Given the description of an element on the screen output the (x, y) to click on. 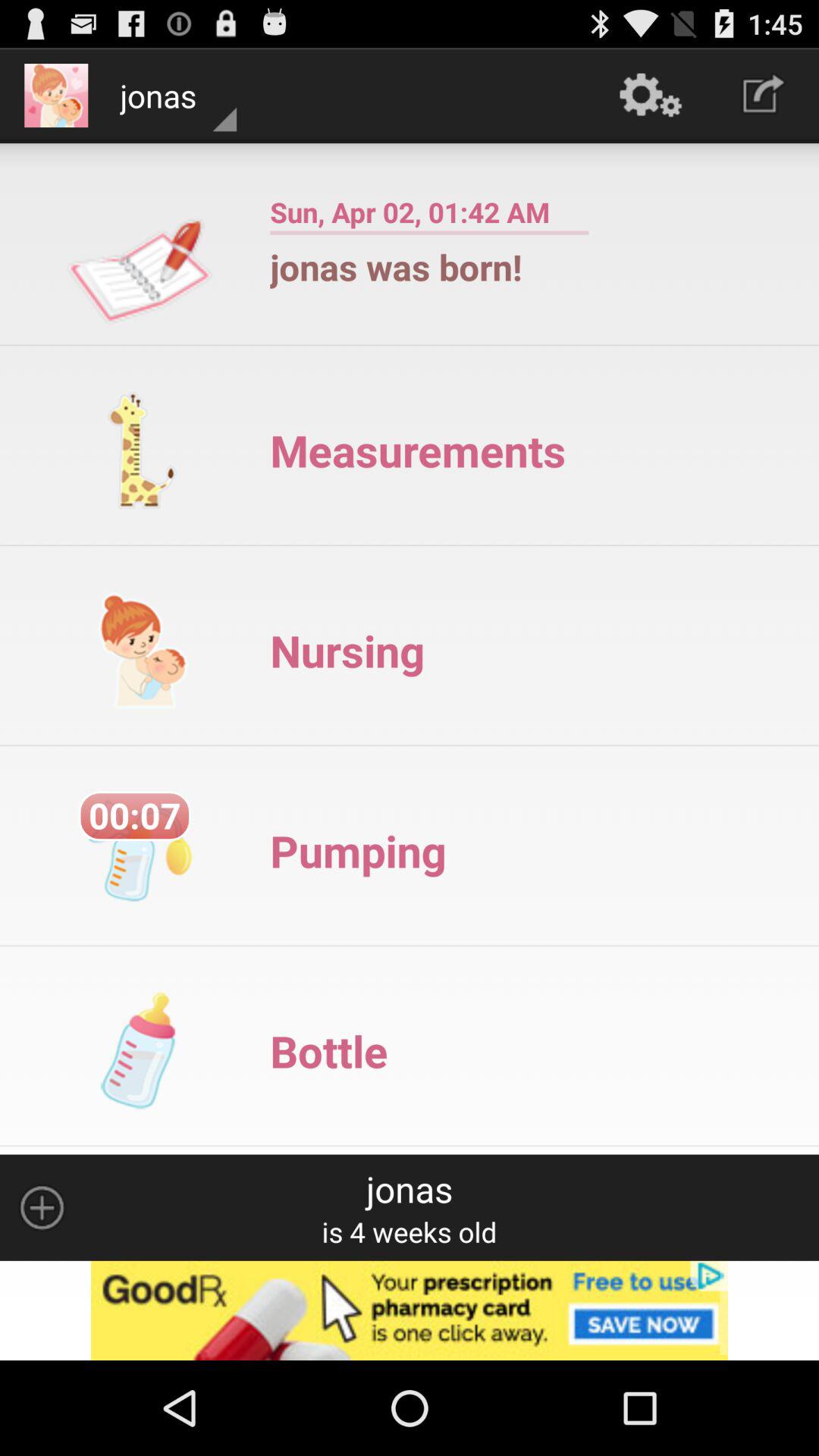
select advertisement (409, 1310)
